Given the description of an element on the screen output the (x, y) to click on. 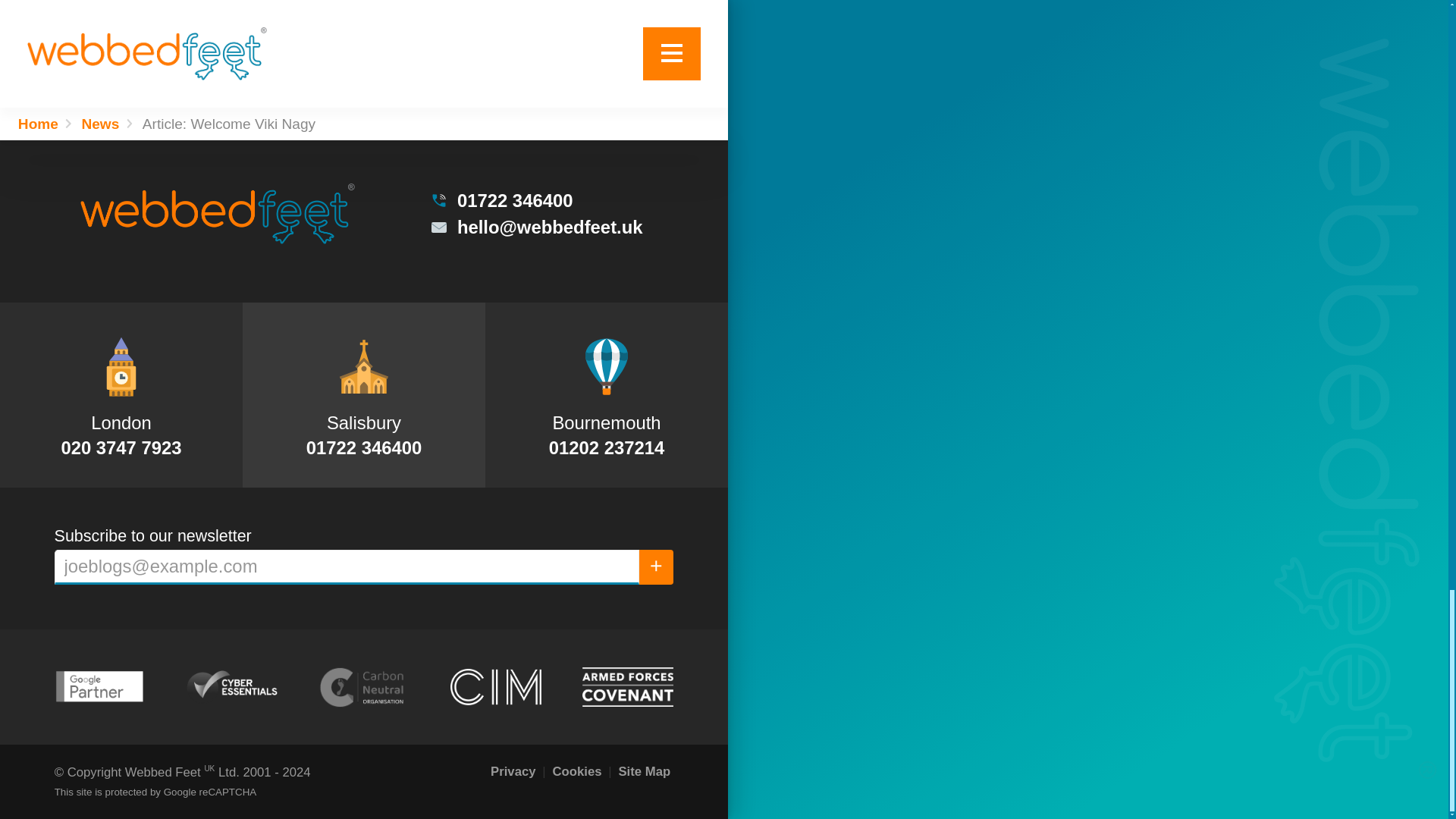
01722 346400 (363, 447)
Cookies (576, 772)
01202 237214 (606, 447)
01722 346400 (535, 200)
Viki Nagy (151, 31)
020 3747 7923 (120, 447)
Site Map (643, 772)
Subscribe (656, 566)
Webbed Feet, web developers in Salisbury, Wiltshire (216, 213)
Privacy (512, 772)
